Given the description of an element on the screen output the (x, y) to click on. 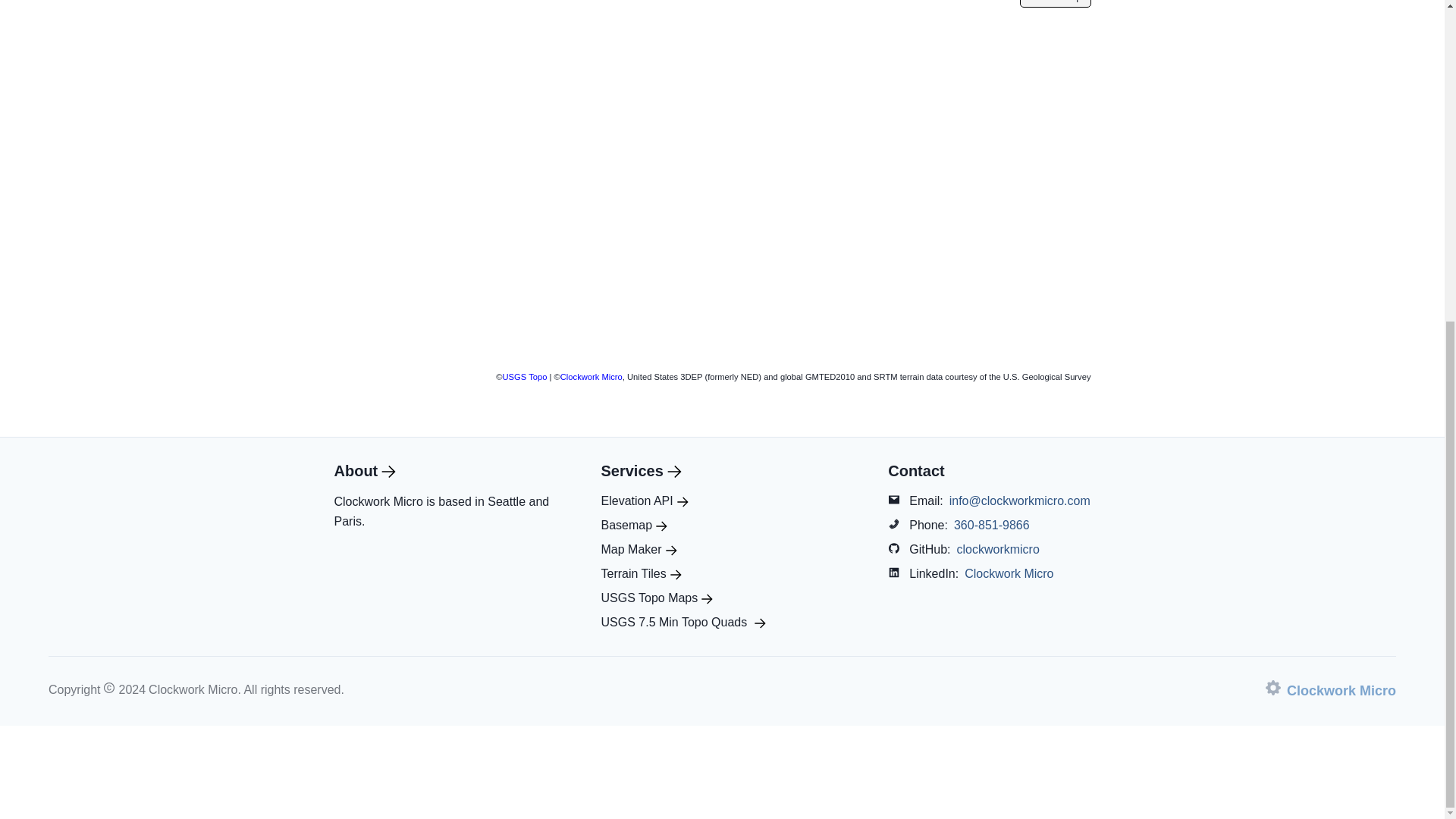
Clockwork Micro (1330, 690)
USGS Topo Maps (656, 597)
clockworkmicro (997, 549)
Clockwork Micro (1007, 574)
Elevation API (643, 501)
About (364, 470)
Basemap (632, 525)
Terrain Tiles (640, 574)
Clockwork Micro (591, 376)
Services (640, 470)
Map Maker (638, 549)
USGS Topo (524, 376)
USGS 7.5 Min Topo Quads (682, 622)
360-851-9866 (991, 525)
